Given the description of an element on the screen output the (x, y) to click on. 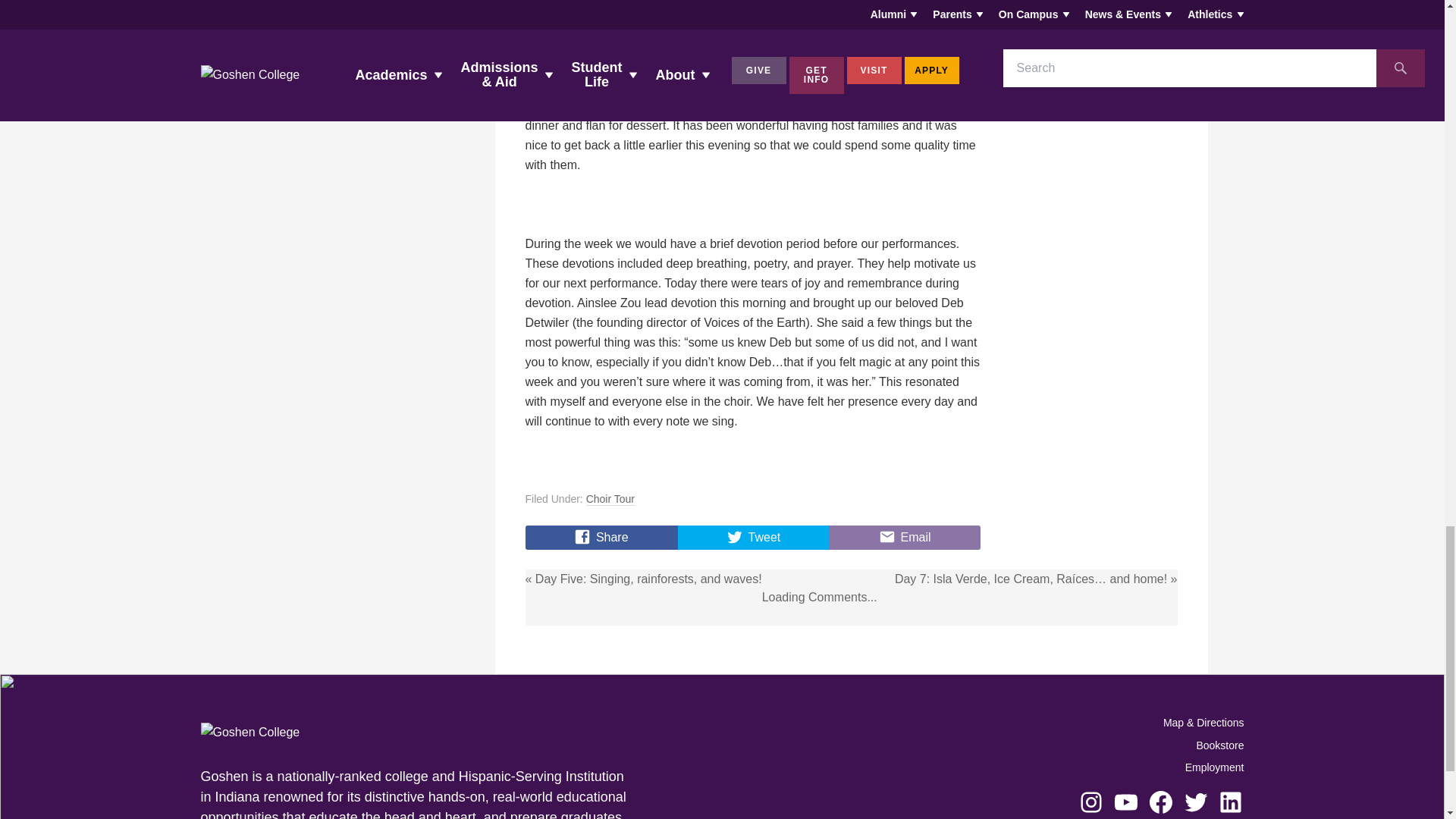
Share on Twitter (753, 537)
Share on Facebook (600, 537)
Share via Email (904, 537)
